Given the description of an element on the screen output the (x, y) to click on. 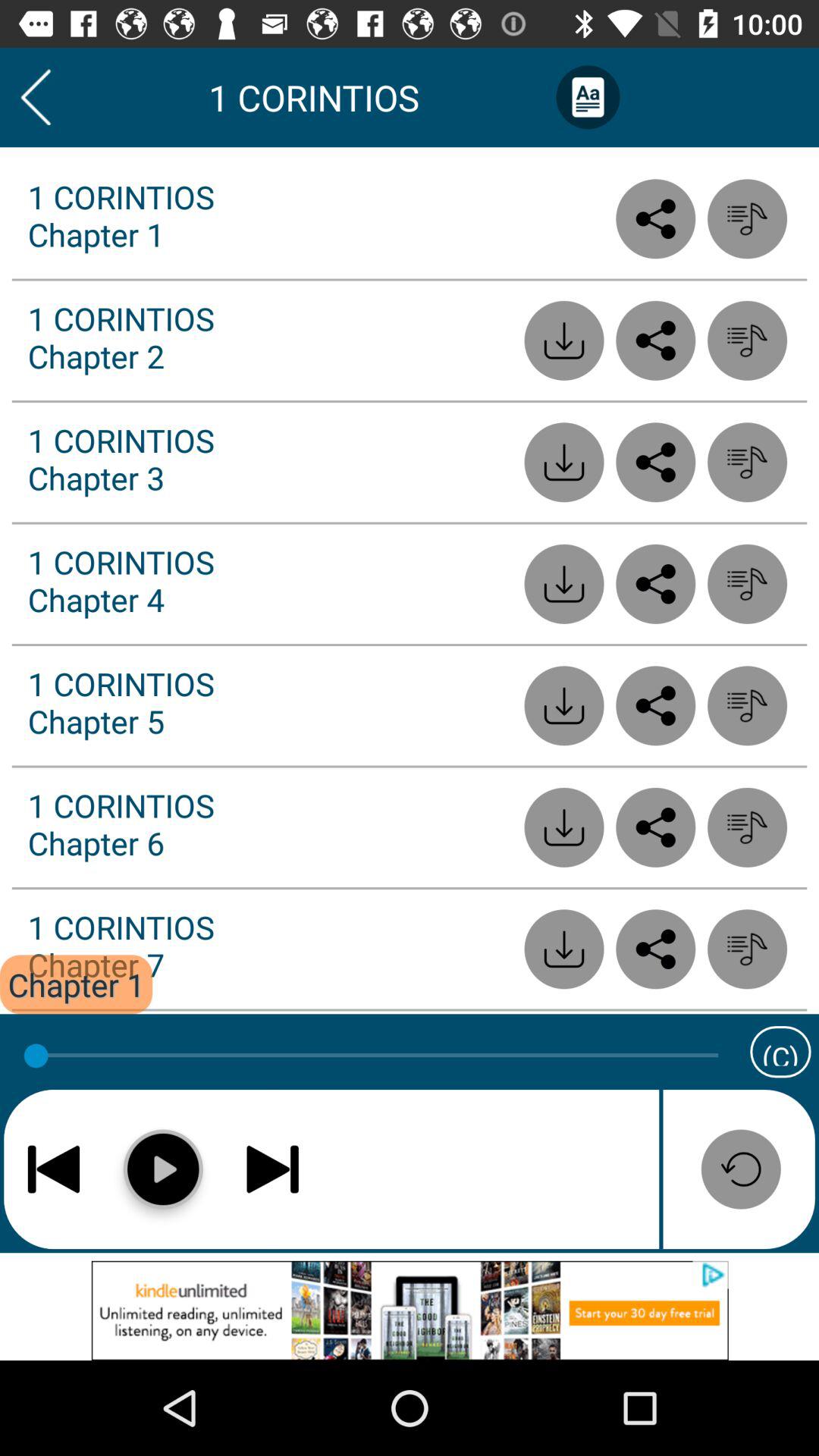
play list option (747, 949)
